Given the description of an element on the screen output the (x, y) to click on. 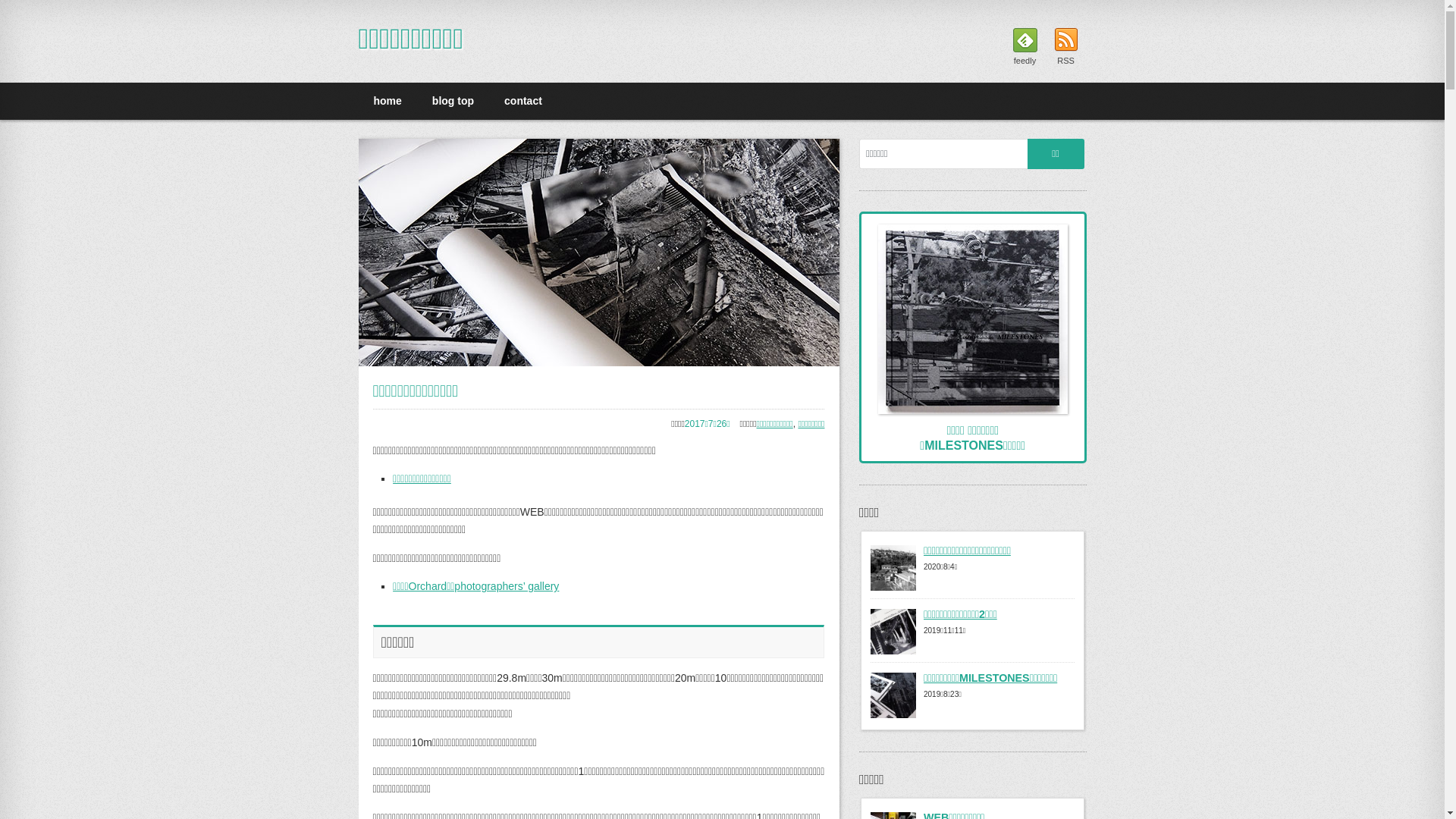
feedly Element type: text (1024, 47)
contact Element type: text (523, 100)
blog top Element type: text (453, 100)
home Element type: text (386, 100)
RSS Element type: text (1064, 47)
